Given the description of an element on the screen output the (x, y) to click on. 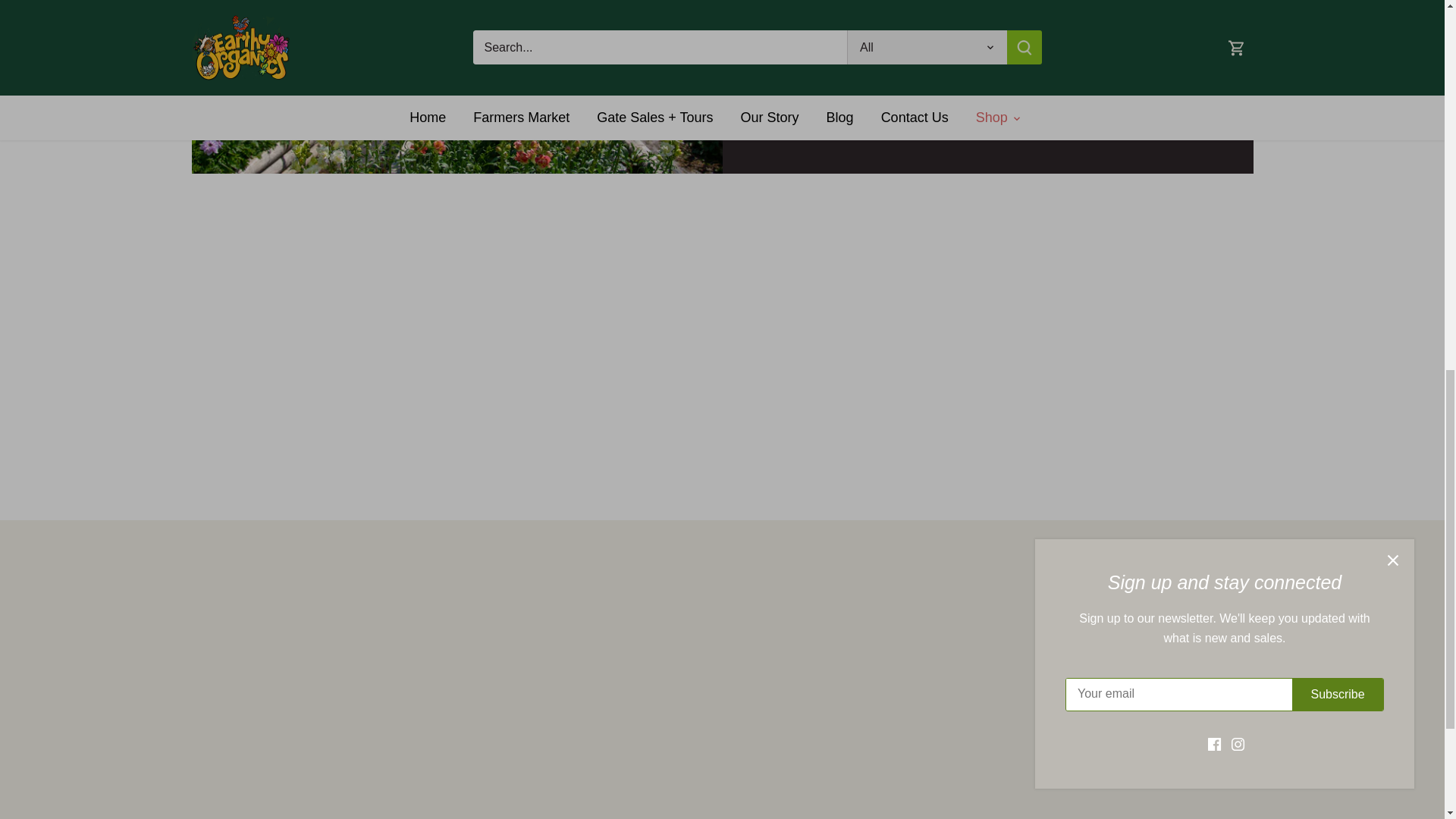
Directions (808, 96)
Subscribe (456, 623)
